Given the description of an element on the screen output the (x, y) to click on. 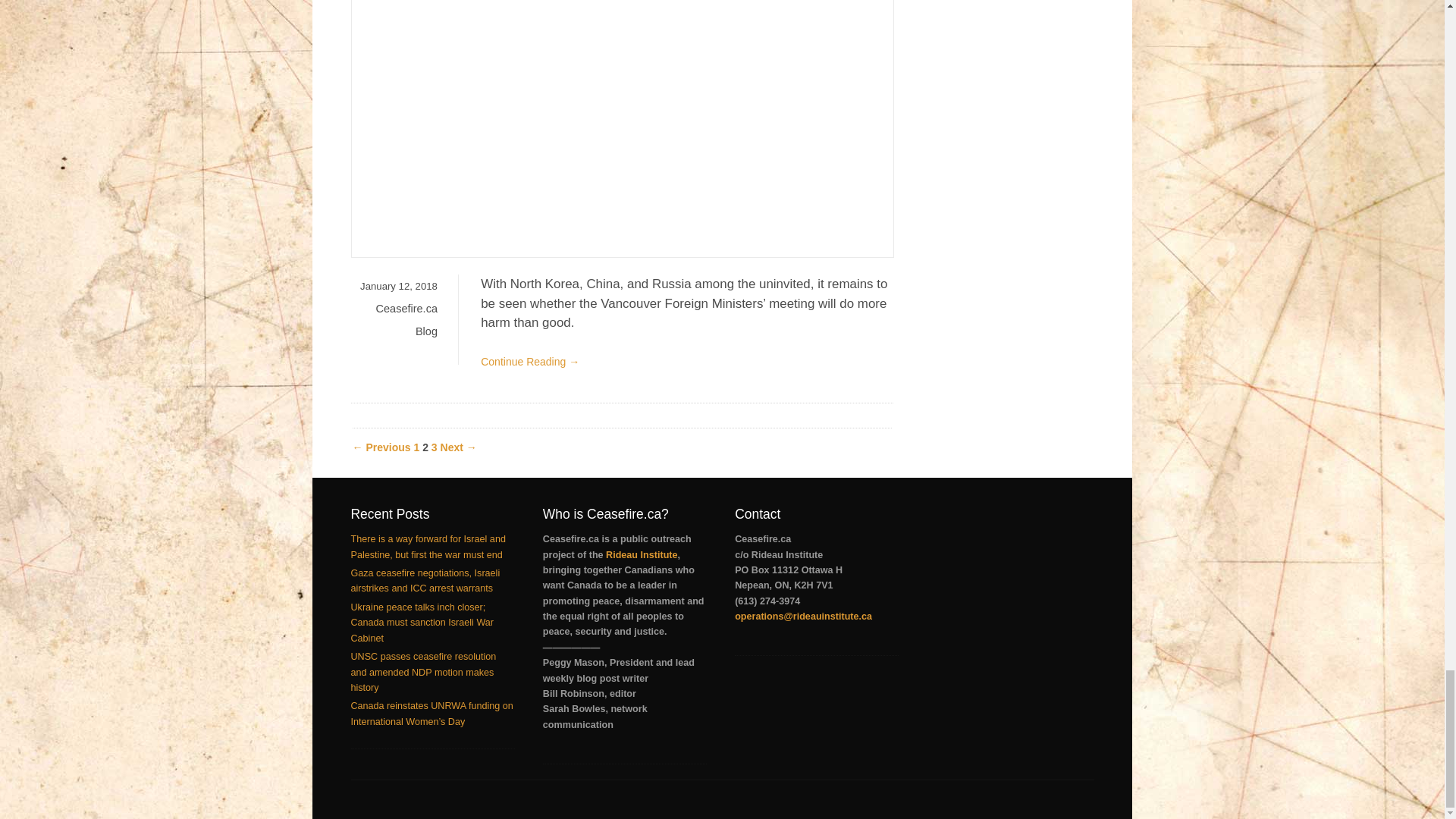
Ceasefire.ca (406, 308)
